Given the description of an element on the screen output the (x, y) to click on. 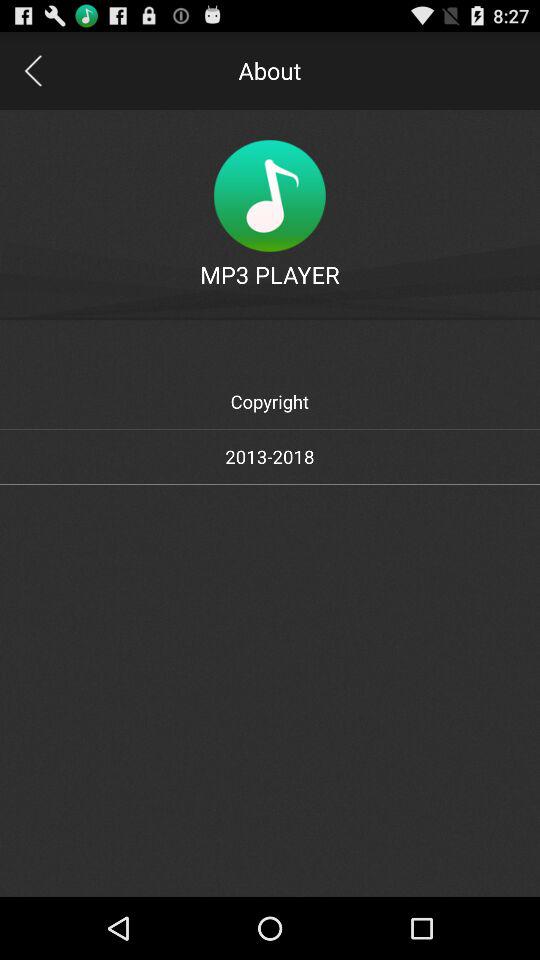
go to previous (32, 70)
